Given the description of an element on the screen output the (x, y) to click on. 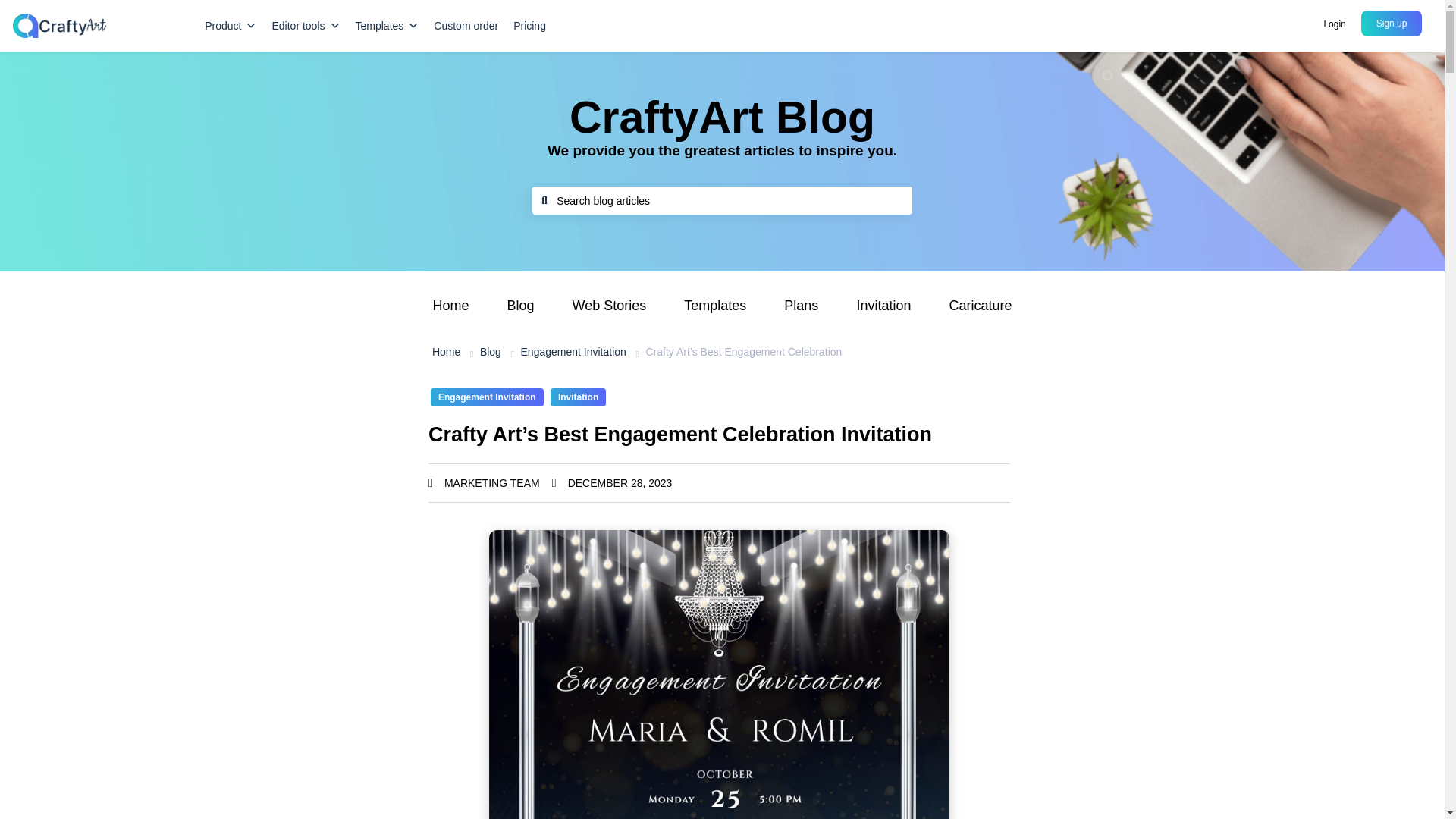
Home (446, 352)
Product (229, 25)
Templates (386, 25)
Editor tools (305, 25)
Pricing (529, 25)
Custom order (465, 25)
Engagement Invitation (573, 352)
Blog (490, 352)
